Given the description of an element on the screen output the (x, y) to click on. 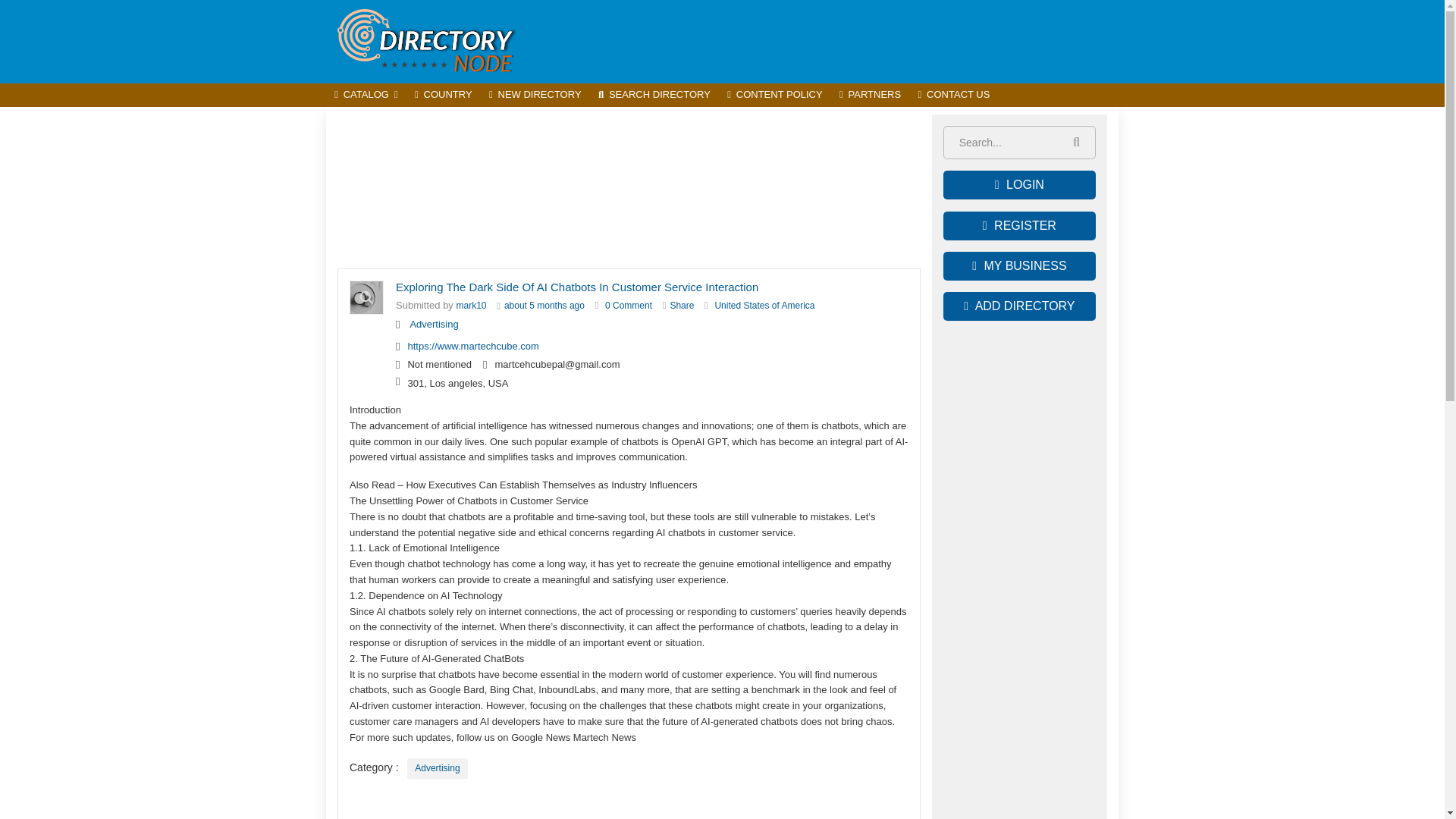
CONTENT POLICY (775, 95)
mark10 (471, 305)
Advertising (437, 768)
Advertising (433, 324)
ADD DIRECTORY (1019, 306)
Share (681, 305)
Advertisement (842, 41)
NEW DIRECTORY (534, 95)
PARTNERS (870, 95)
COUNTRY (443, 95)
mark10 (471, 305)
SEARCH DIRECTORY (654, 95)
Share (681, 305)
CONTACT US (952, 95)
